Given the description of an element on the screen output the (x, y) to click on. 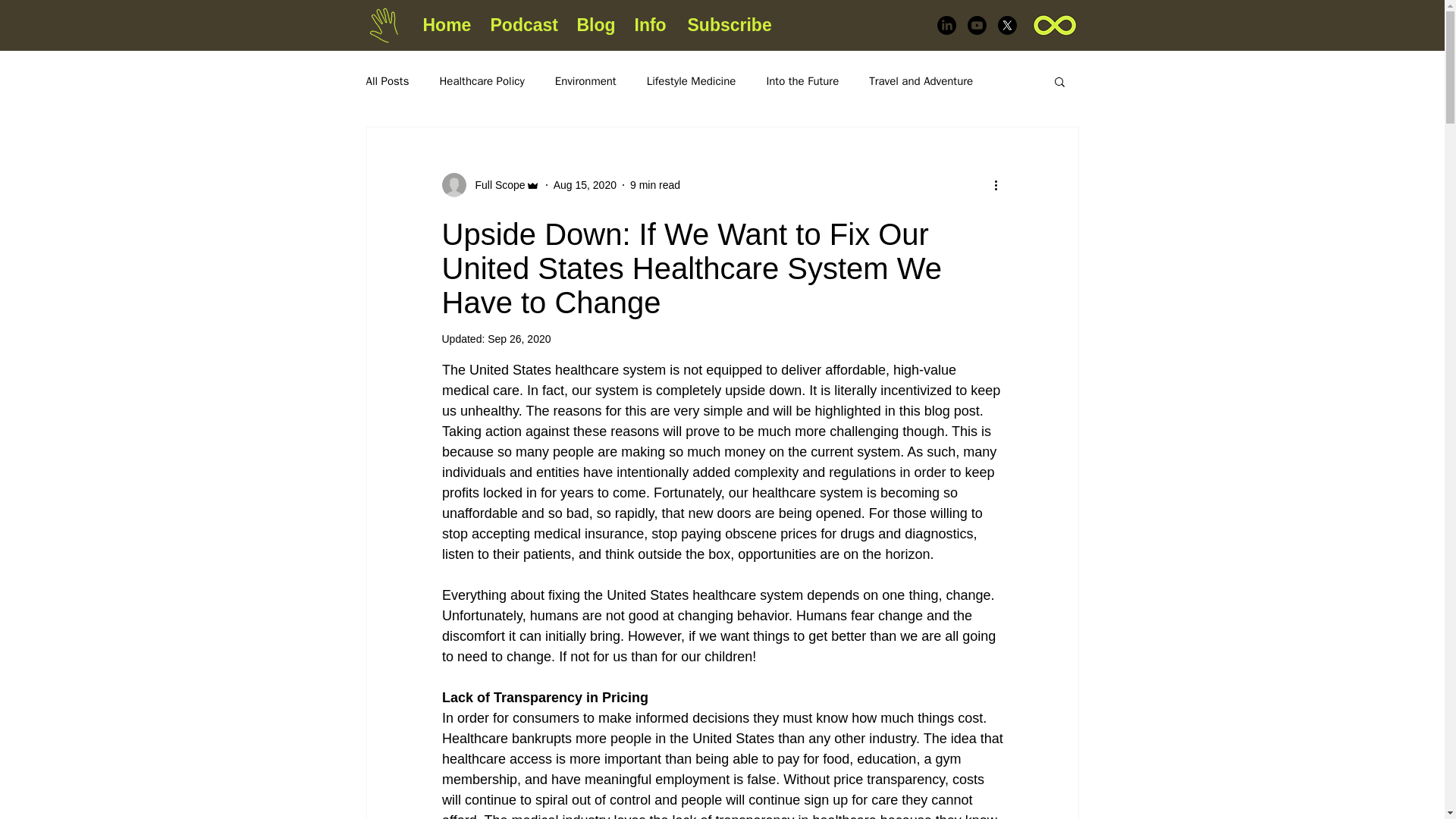
Info (650, 25)
Full Scope (489, 184)
Aug 15, 2020 (584, 184)
Full Scope (494, 185)
Into the Future (801, 81)
Travel and Adventure (920, 81)
All Posts (387, 81)
Home (444, 25)
Subscribe (727, 25)
Podcast (522, 25)
9 min read (654, 184)
Lifestyle Medicine (691, 81)
Healthcare Policy (481, 81)
Blog (594, 25)
Environment (584, 81)
